Given the description of an element on the screen output the (x, y) to click on. 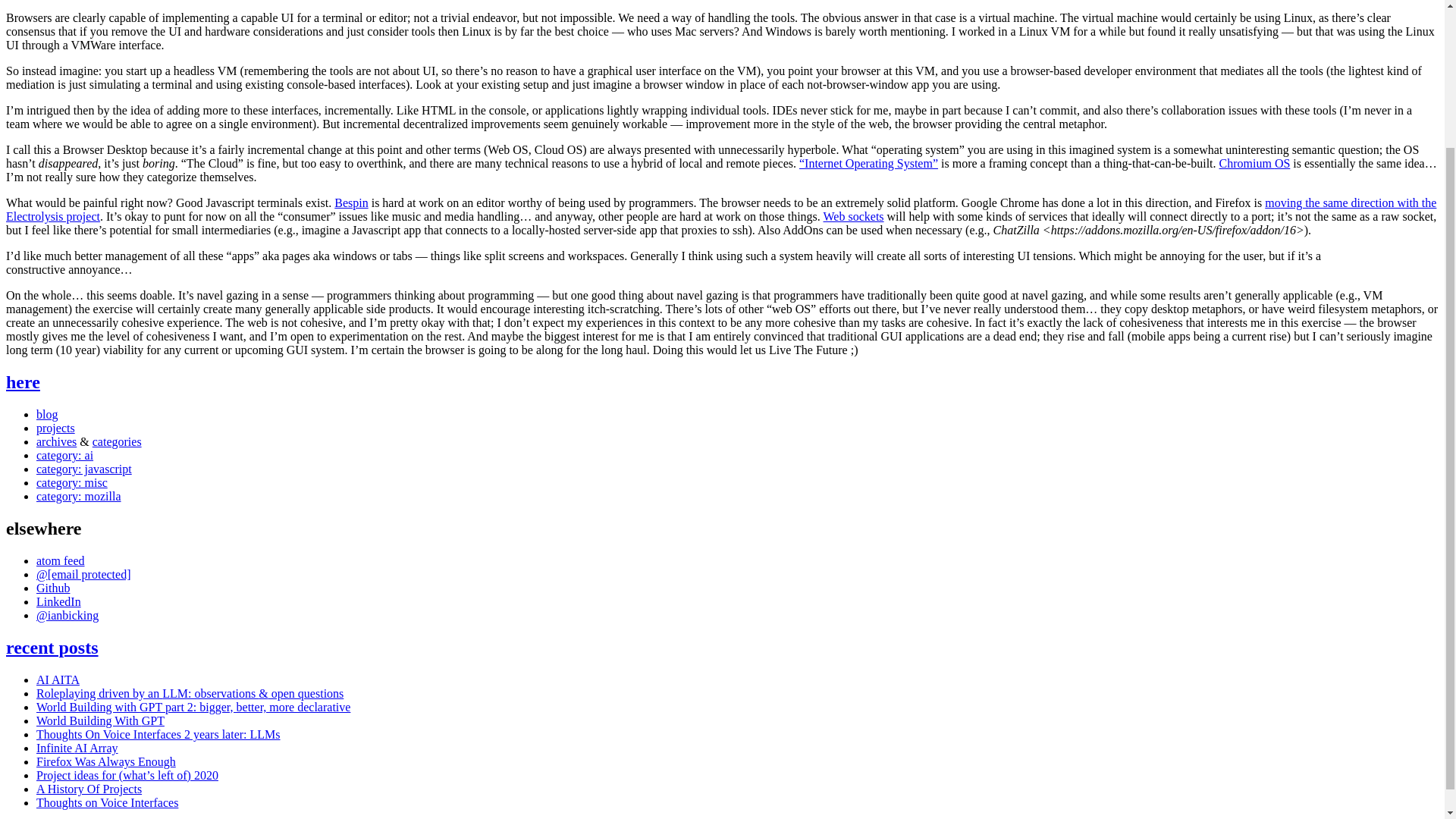
Github (52, 587)
Thoughts on Voice Interfaces (106, 802)
blog (47, 413)
categories (117, 440)
category: misc (71, 481)
Thoughts On Voice Interfaces 2 years later: LLMs (158, 734)
A History Of Projects (88, 788)
projects (55, 427)
category: javascript (84, 468)
Firefox Was Always Enough (106, 761)
Web sockets (853, 215)
category: ai (64, 454)
Bespin (351, 202)
category: mozilla (78, 495)
